Given the description of an element on the screen output the (x, y) to click on. 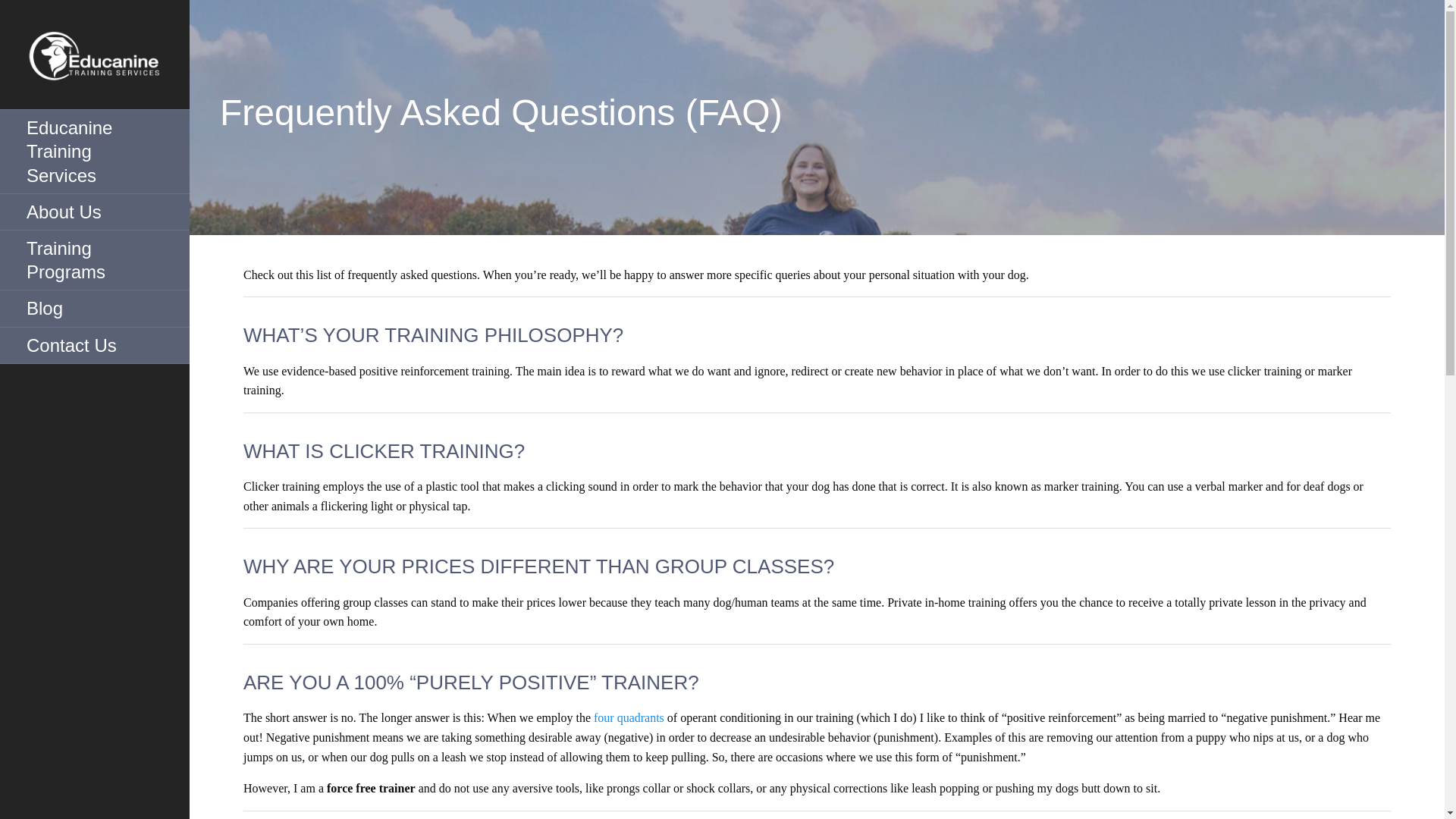
Blog (94, 308)
Contact Us (94, 345)
Educanine Training Services (94, 151)
EDUCANINE TRAINING SERVICES (107, 120)
four quadrants (628, 717)
Training Programs (94, 260)
About Us (94, 212)
